Given the description of an element on the screen output the (x, y) to click on. 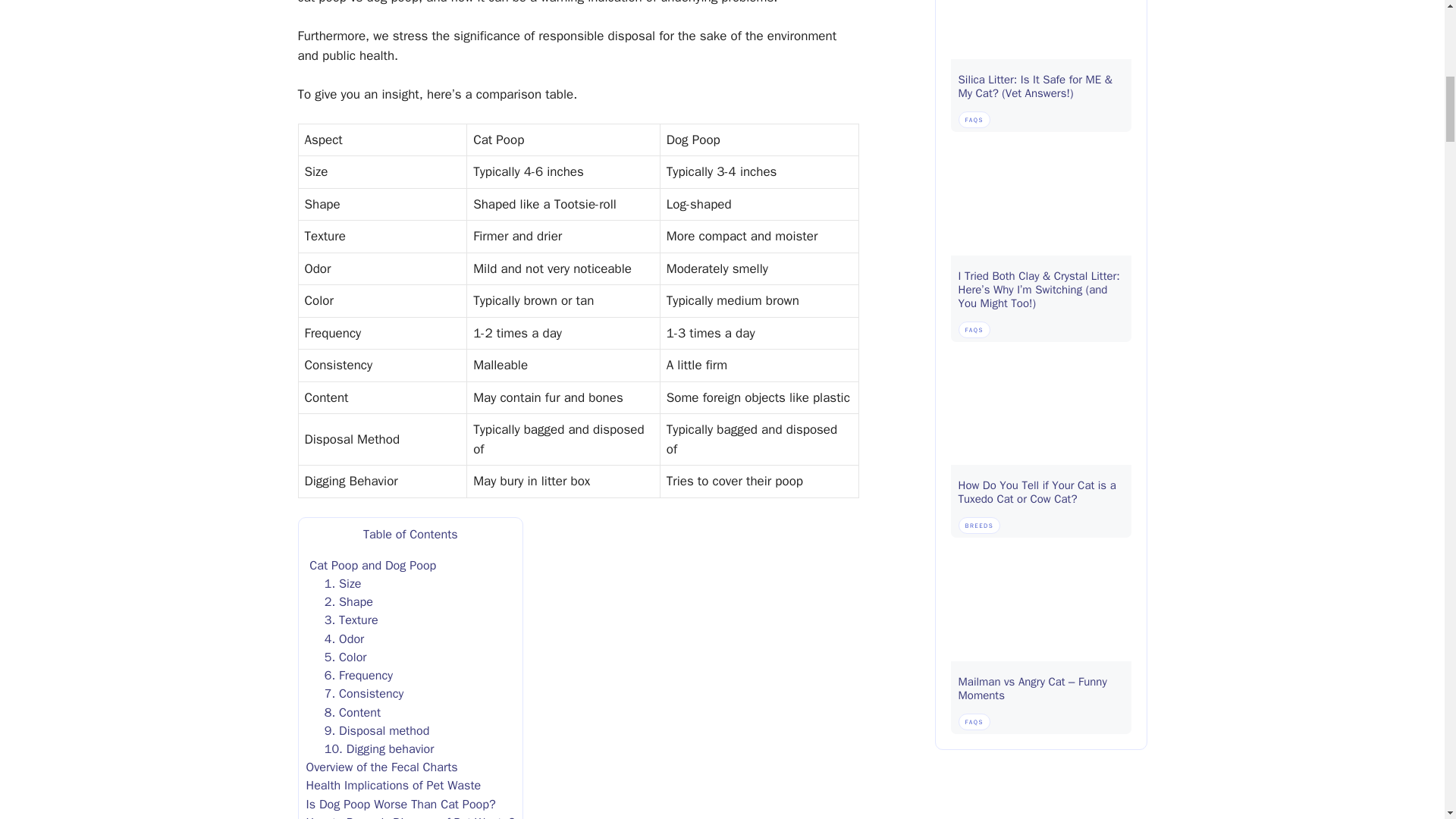
9. Disposal method (376, 730)
4. Odor (344, 638)
 Cat Poop and Dog Poop (370, 565)
3. Texture (351, 619)
7. Consistency (363, 693)
5. Color (345, 657)
Scroll back to top (1406, 720)
How to Properly Dispose of Pet Waste? (410, 816)
6. Frequency (358, 675)
Health Implications of Pet Waste (393, 785)
8. Content (352, 712)
1. Size (342, 583)
Overview of the Fecal Charts (381, 766)
Is Dog Poop Worse Than Cat Poop? (400, 804)
10. Digging behavior (378, 748)
